Given the description of an element on the screen output the (x, y) to click on. 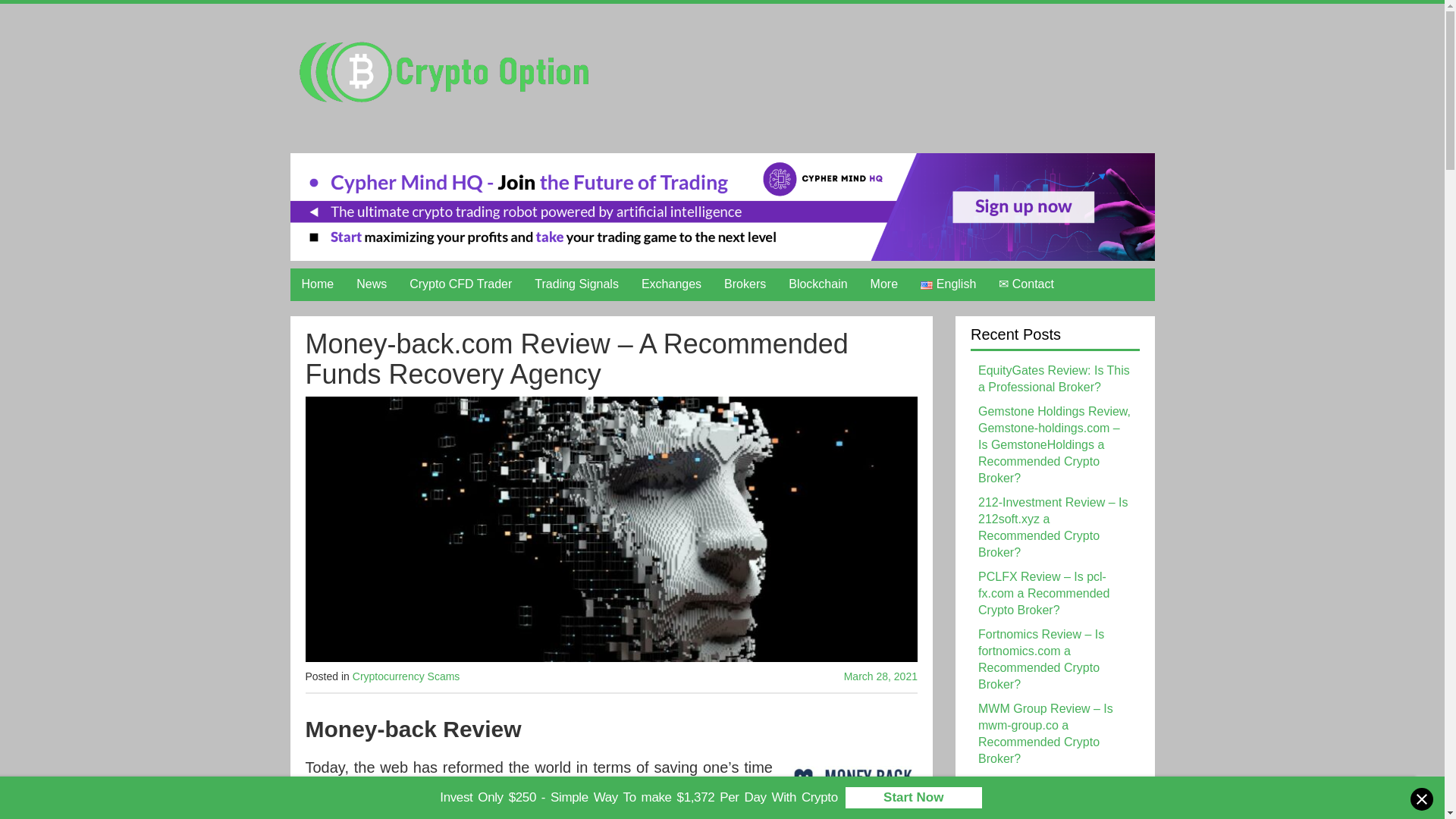
News (371, 284)
English (947, 284)
Brokers (745, 284)
Crypto CFD Trader (459, 284)
Home (317, 284)
Crypto Option (440, 71)
More (883, 284)
March 28, 2021 (823, 676)
Exchanges (671, 284)
EquityGates Review: Is This a Professional Broker? (1053, 378)
Blockchain (818, 284)
Cryptocurrency Scams (406, 676)
Trading Signals (576, 284)
